Given the description of an element on the screen output the (x, y) to click on. 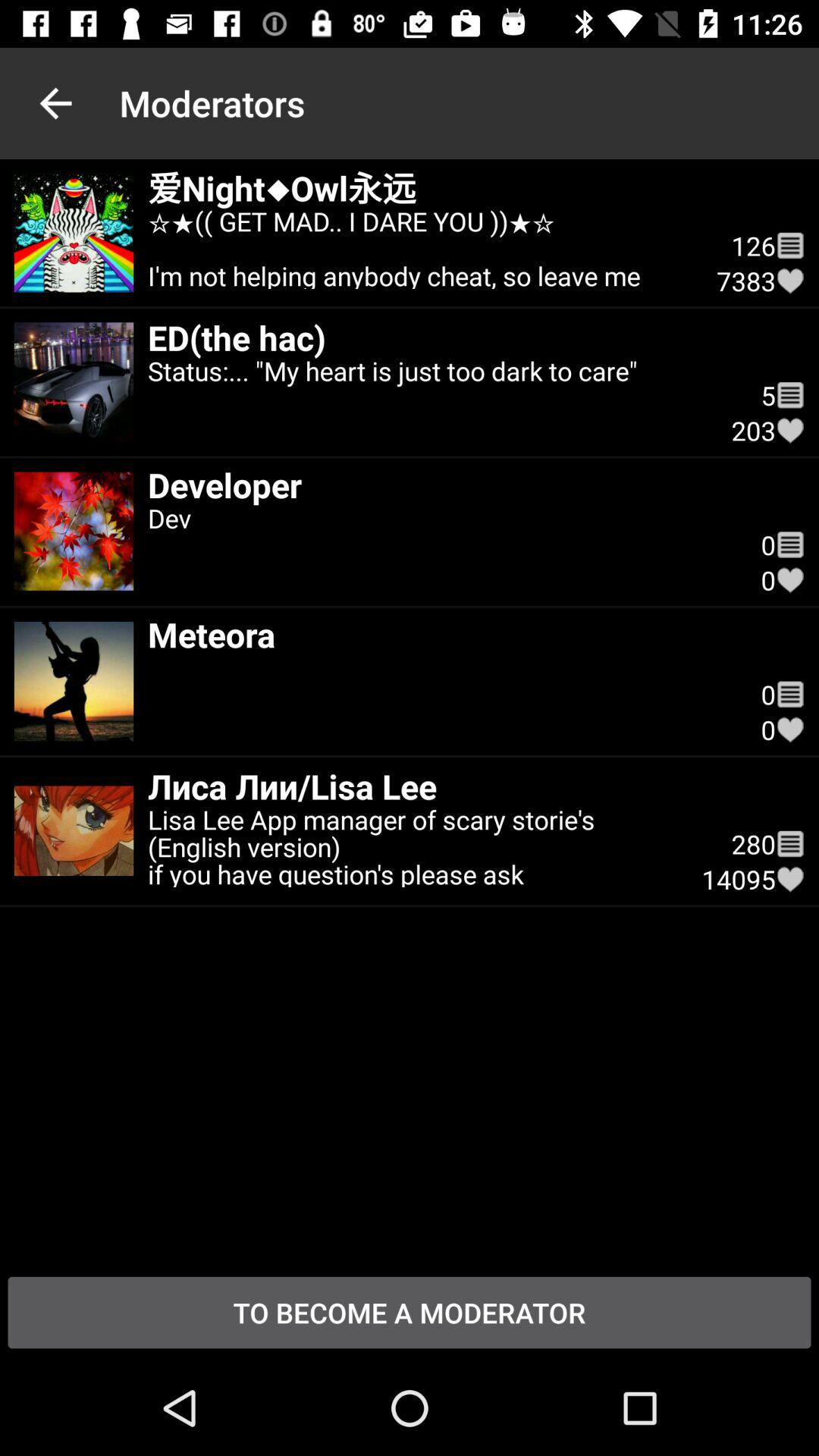
turn off icon above the to become a icon (789, 879)
